Given the description of an element on the screen output the (x, y) to click on. 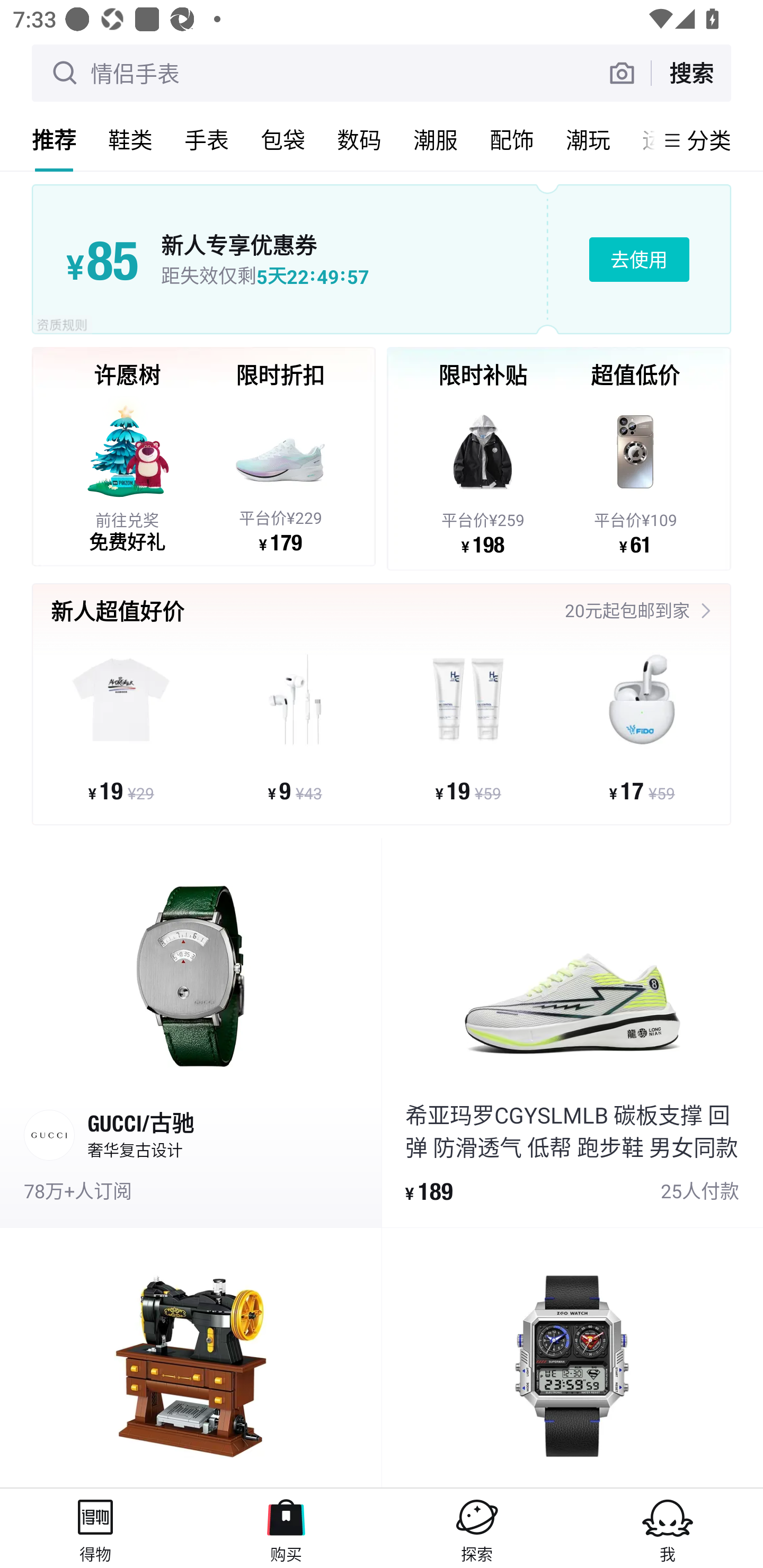
搜索 (690, 72)
推荐 (54, 139)
鞋类 (130, 139)
手表 (206, 139)
包袋 (282, 139)
数码 (359, 139)
潮服 (435, 139)
配饰 (511, 139)
潮玩 (588, 139)
分类 (708, 139)
平台价¥229 ¥ 179 (279, 473)
前往兑奖 免费好礼 (127, 474)
平台价¥259 ¥ 198 (482, 476)
平台价¥109 ¥ 61 (635, 476)
新人超值好价 20元起包邮到家 ¥ 19 ¥29 ¥ 9 ¥43 ¥ 19 ¥59 ¥ 17 ¥59 (381, 710)
¥ 19 ¥29 (121, 726)
¥ 9 ¥43 (294, 726)
¥ 19 ¥59 (468, 726)
¥ 17 ¥59 (641, 726)
GUCCI/古驰 奢华复古设计 78万+人订阅 (190, 1032)
product_item 哲高积木 复古怀旧系列 缝纫机 拼
装积木 MINI00936 (190, 1357)
得物 (95, 1528)
购买 (285, 1528)
探索 (476, 1528)
我 (667, 1528)
